Given the description of an element on the screen output the (x, y) to click on. 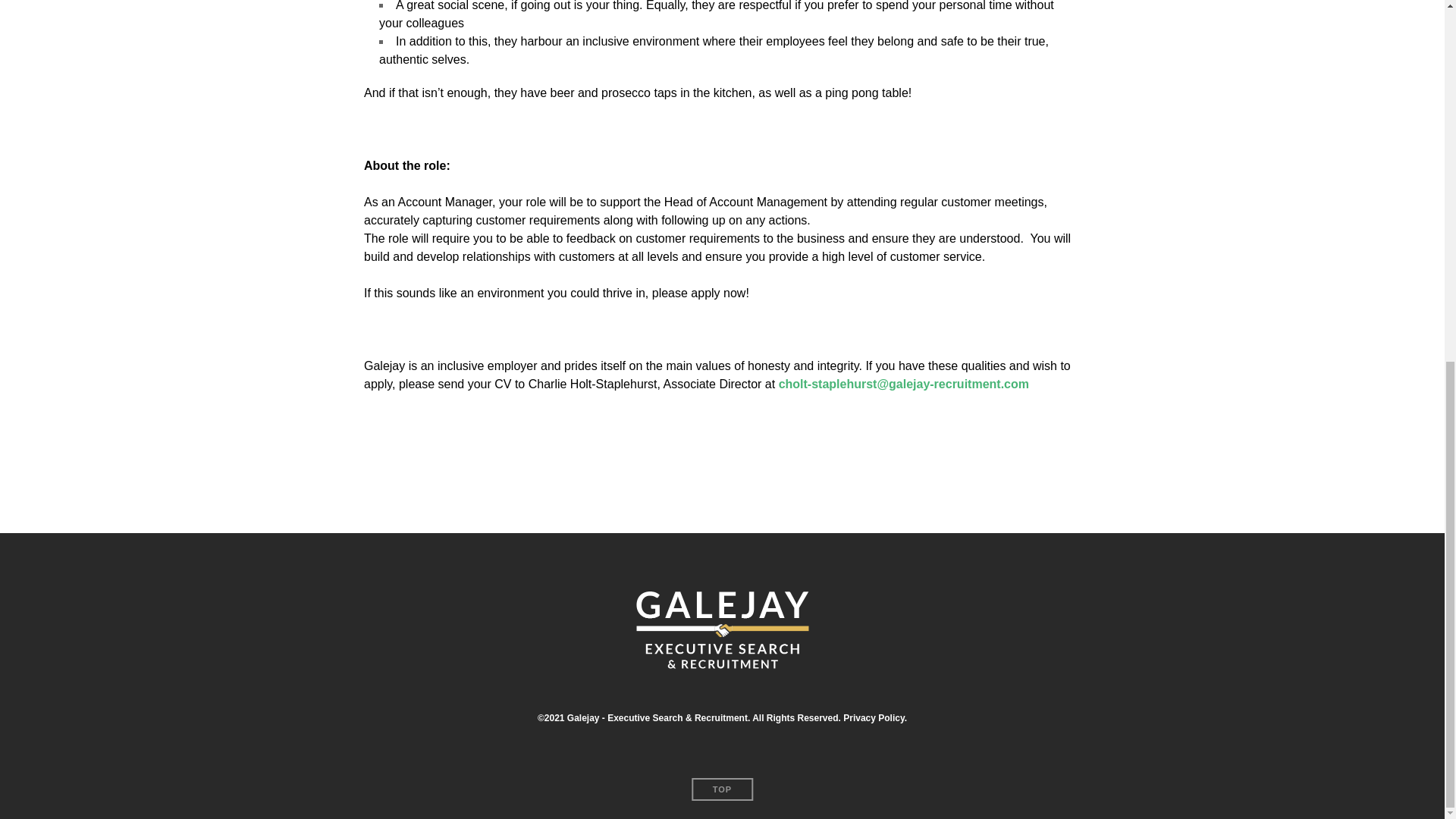
Privacy Policy. (875, 717)
TOP (721, 789)
